Given the description of an element on the screen output the (x, y) to click on. 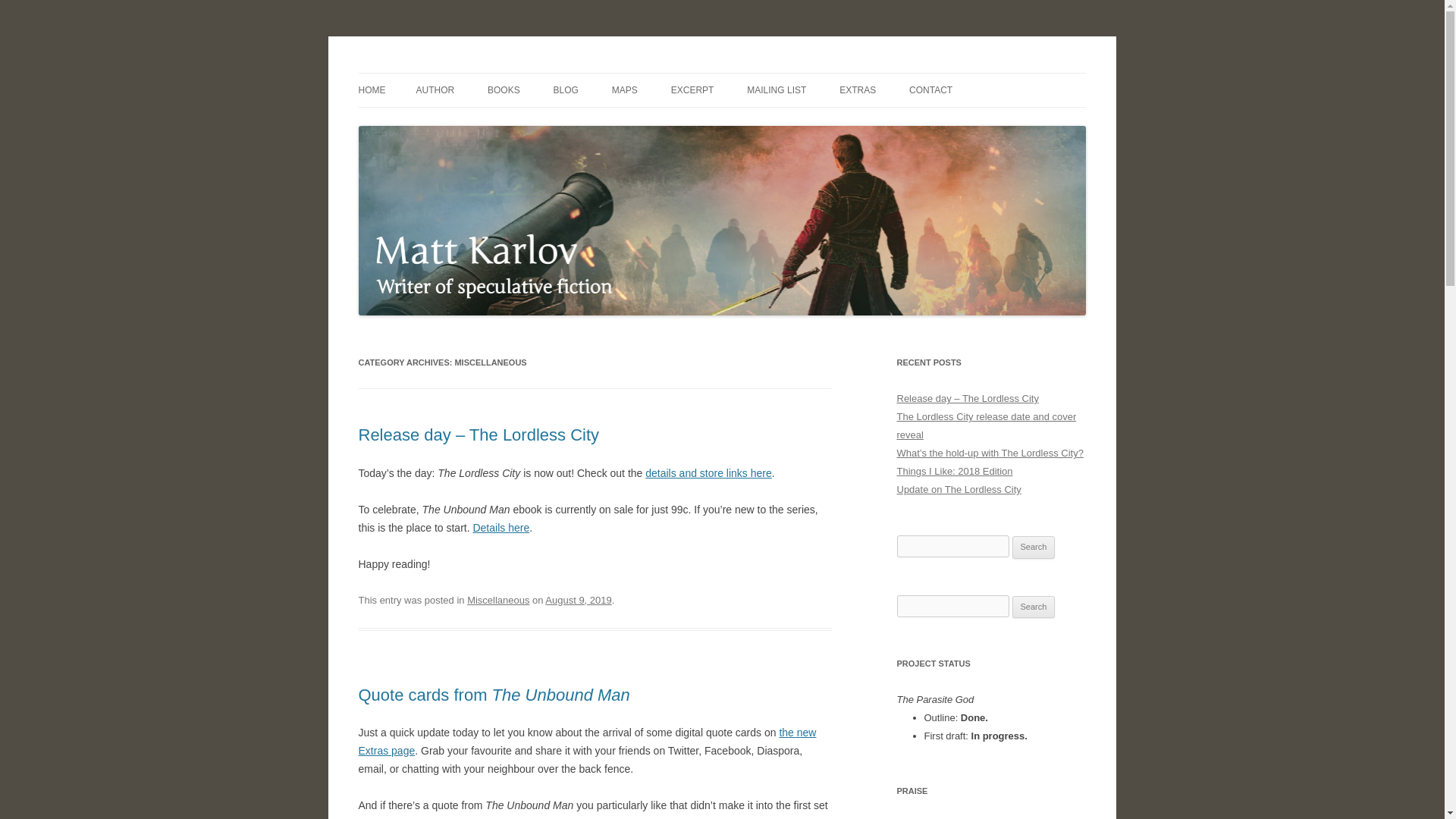
CONTACT (930, 90)
AUTHOR (434, 90)
BLOG (565, 90)
Search (1033, 607)
the new Extras page (586, 741)
Matt Karlov (411, 72)
Quote cards from The Unbound Man (493, 694)
BOOKS (503, 90)
5:07 pm (577, 600)
Miscellaneous (498, 600)
details and store links here (708, 472)
HOME (371, 90)
MAILING LIST (776, 90)
Search (1033, 607)
